Given the description of an element on the screen output the (x, y) to click on. 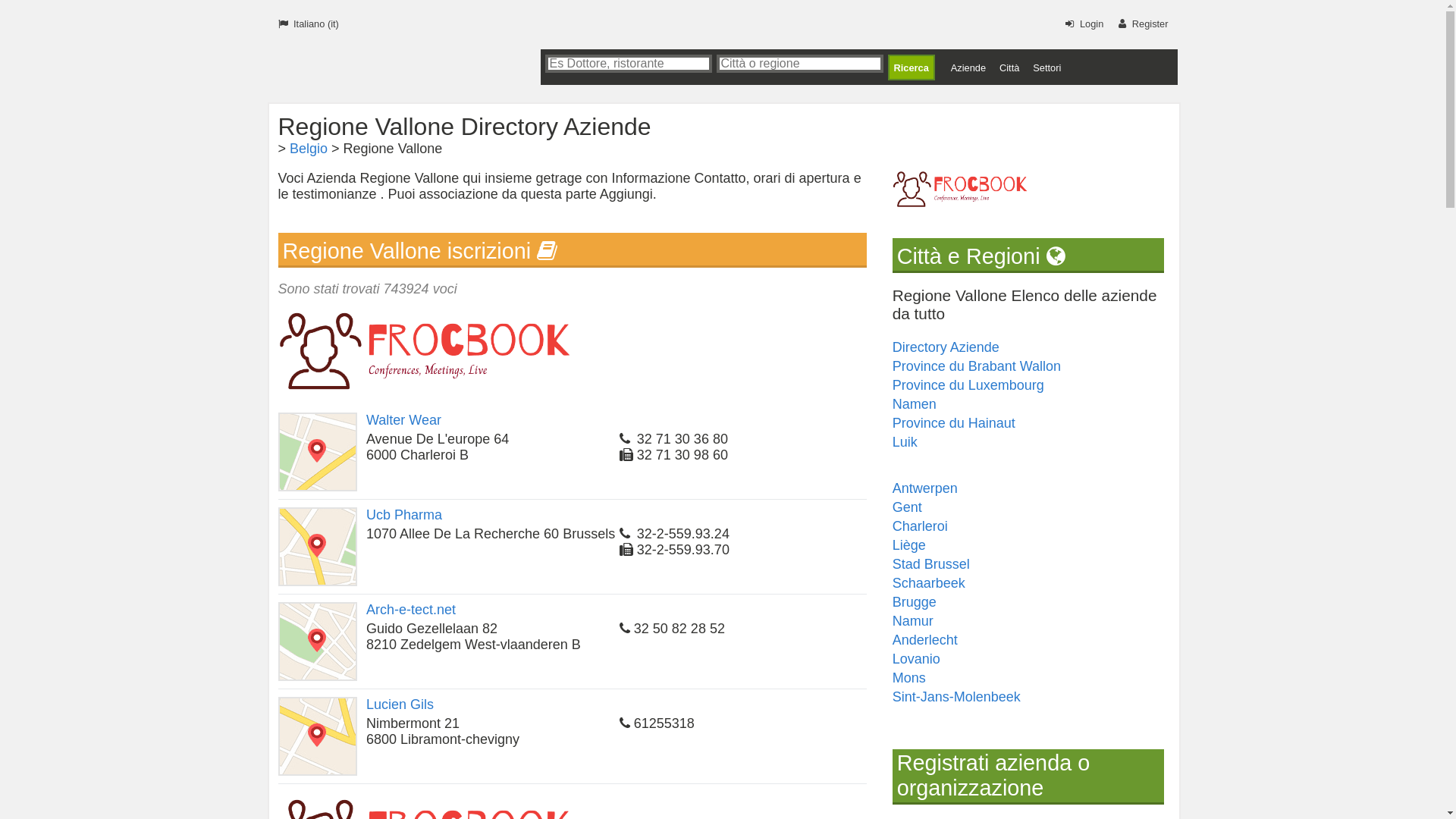
Luik Element type: text (904, 441)
Walter Wear Element type: text (403, 419)
Schaarbeek Element type: text (928, 582)
Belgio Element type: text (308, 148)
Register Element type: text (1139, 21)
Aziende Element type: text (967, 67)
Ricerca Element type: text (910, 67)
Namen Element type: text (914, 403)
Province du Hainaut Element type: text (953, 422)
Telefono Element type: hover (626, 723)
Directory Aziende Element type: text (945, 346)
Login Element type: text (1081, 21)
Telefono Element type: hover (626, 438)
Ucb Pharma Element type: text (404, 514)
Charleroi Element type: text (919, 525)
Stad Brussel Element type: text (930, 563)
Arch-e-tect.net Element type: text (410, 609)
Brugge Element type: text (914, 601)
Namur Element type: text (912, 620)
Fax Element type: hover (628, 549)
Mons Element type: text (908, 677)
Telefono Element type: hover (626, 533)
Telefono Element type: hover (626, 628)
Sint-Jans-Molenbeek Element type: text (956, 696)
Province du Luxembourg Element type: text (968, 384)
Italiano (it) Element type: text (304, 21)
Anderlecht Element type: text (924, 639)
Gent Element type: text (907, 506)
Lovanio Element type: text (916, 658)
Settori Element type: text (1046, 67)
Fax Element type: hover (628, 454)
Lucien Gils Element type: text (399, 704)
Province du Brabant Wallon Element type: text (976, 365)
Antwerpen Element type: text (924, 487)
